Given the description of an element on the screen output the (x, y) to click on. 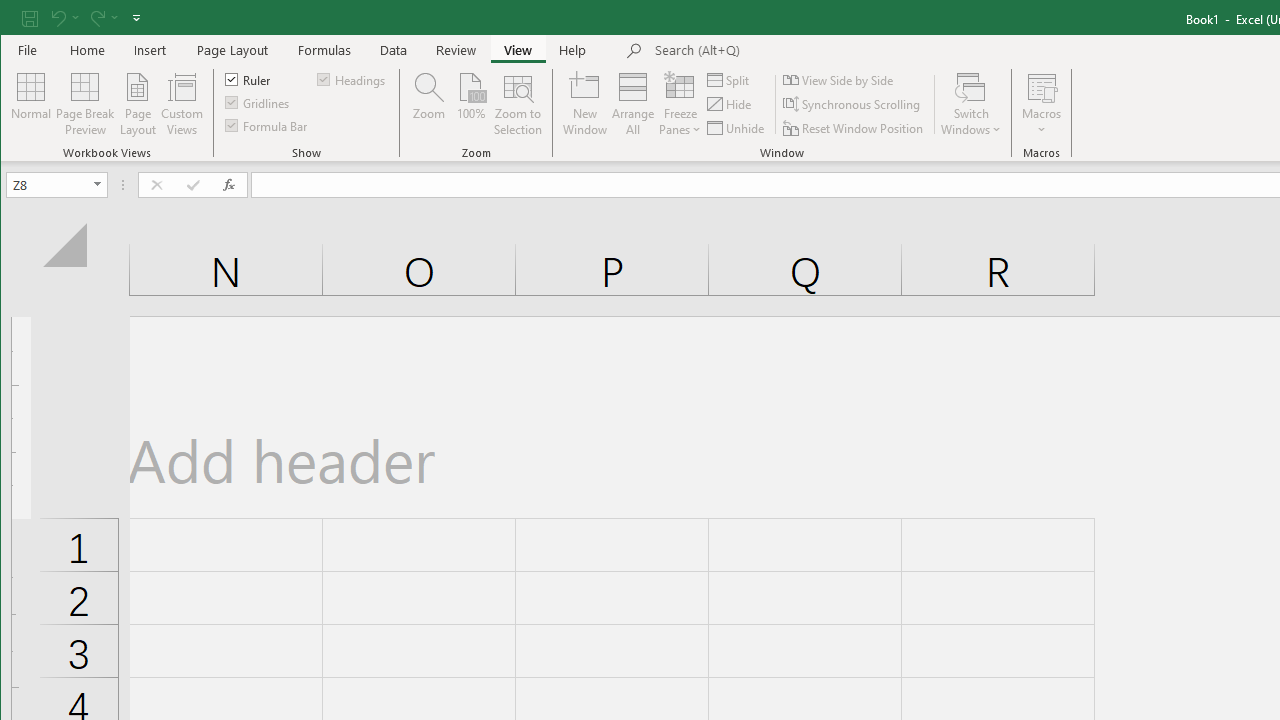
100% (470, 104)
Home (87, 50)
Page Break Preview (84, 104)
Macros (1041, 104)
More Options (1041, 123)
Name Box (56, 184)
Zoom... (429, 104)
Custom Views... (182, 104)
Help (573, 50)
Hide (730, 103)
Redo (102, 17)
Unhide... (737, 127)
Zoom to Selection (518, 104)
Gridlines (258, 101)
Insert (150, 50)
